Given the description of an element on the screen output the (x, y) to click on. 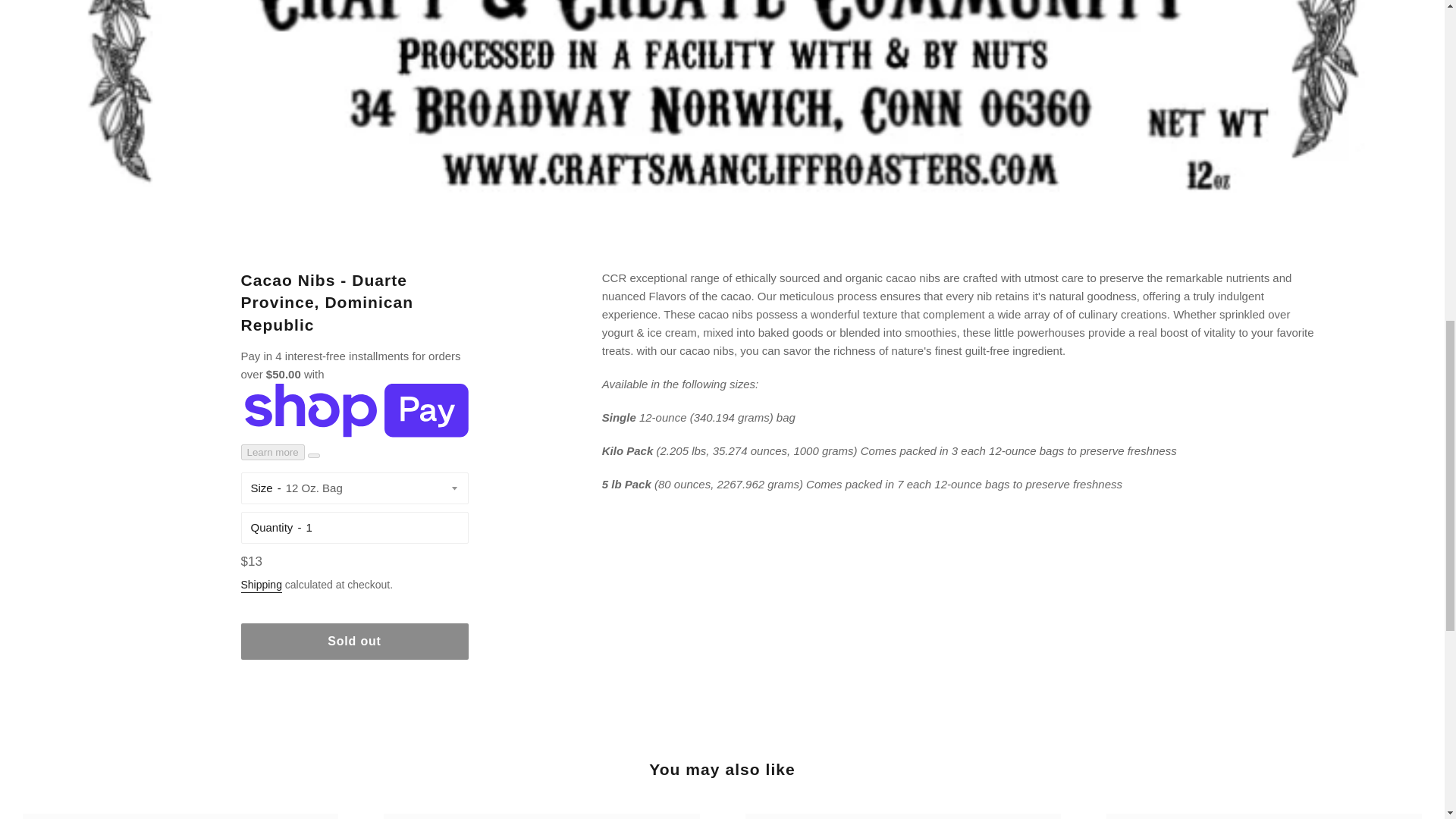
1 (382, 527)
Shipping (261, 585)
Sold out (354, 641)
